Given the description of an element on the screen output the (x, y) to click on. 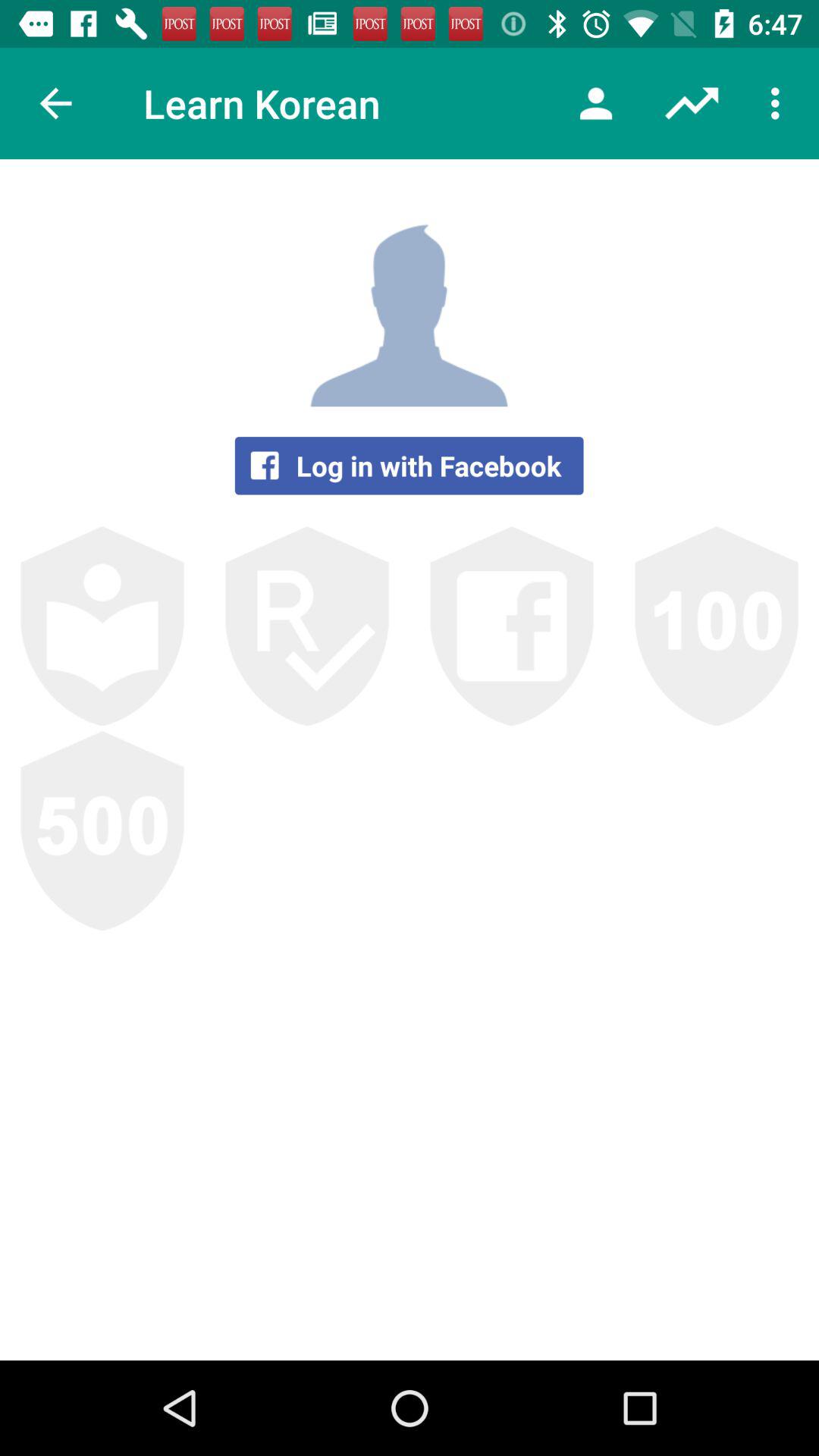
click the item to the right of the learn korean (595, 103)
